Given the description of an element on the screen output the (x, y) to click on. 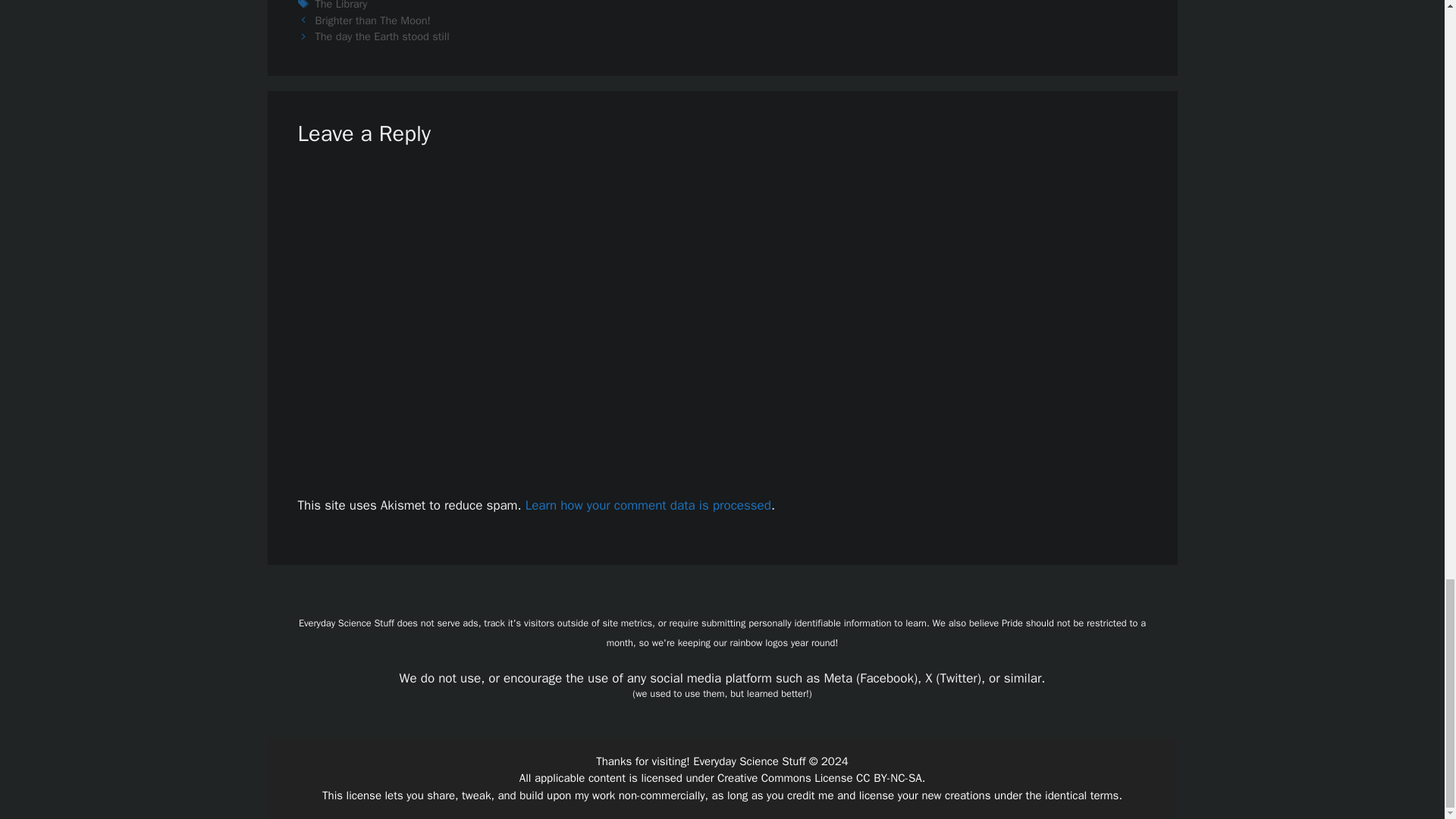
The day the Earth stood still (382, 36)
Brighter than The Moon! (372, 20)
The Library (341, 5)
Learn how your comment data is processed (648, 505)
